Given the description of an element on the screen output the (x, y) to click on. 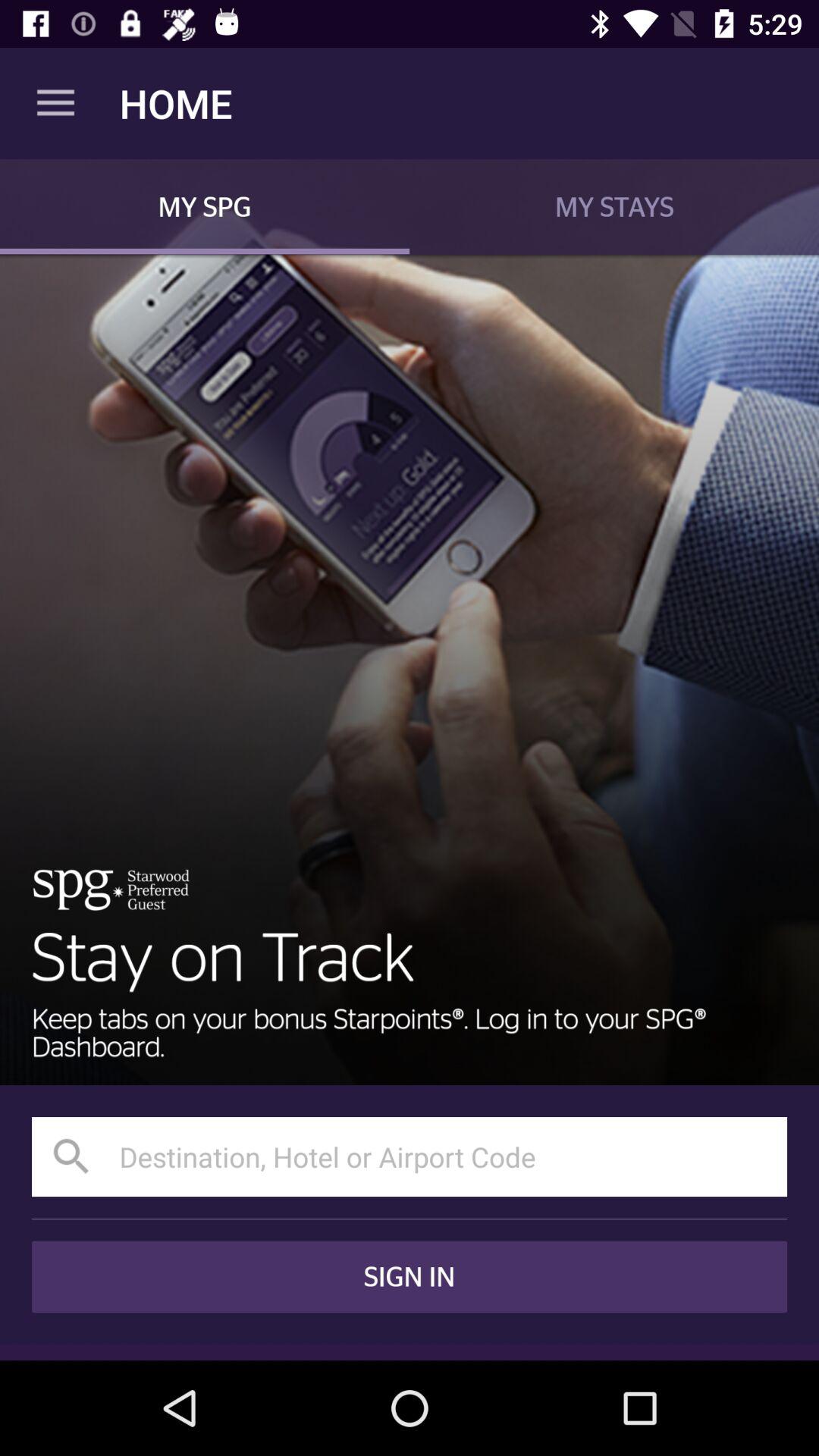
flip until my stays item (614, 206)
